Given the description of an element on the screen output the (x, y) to click on. 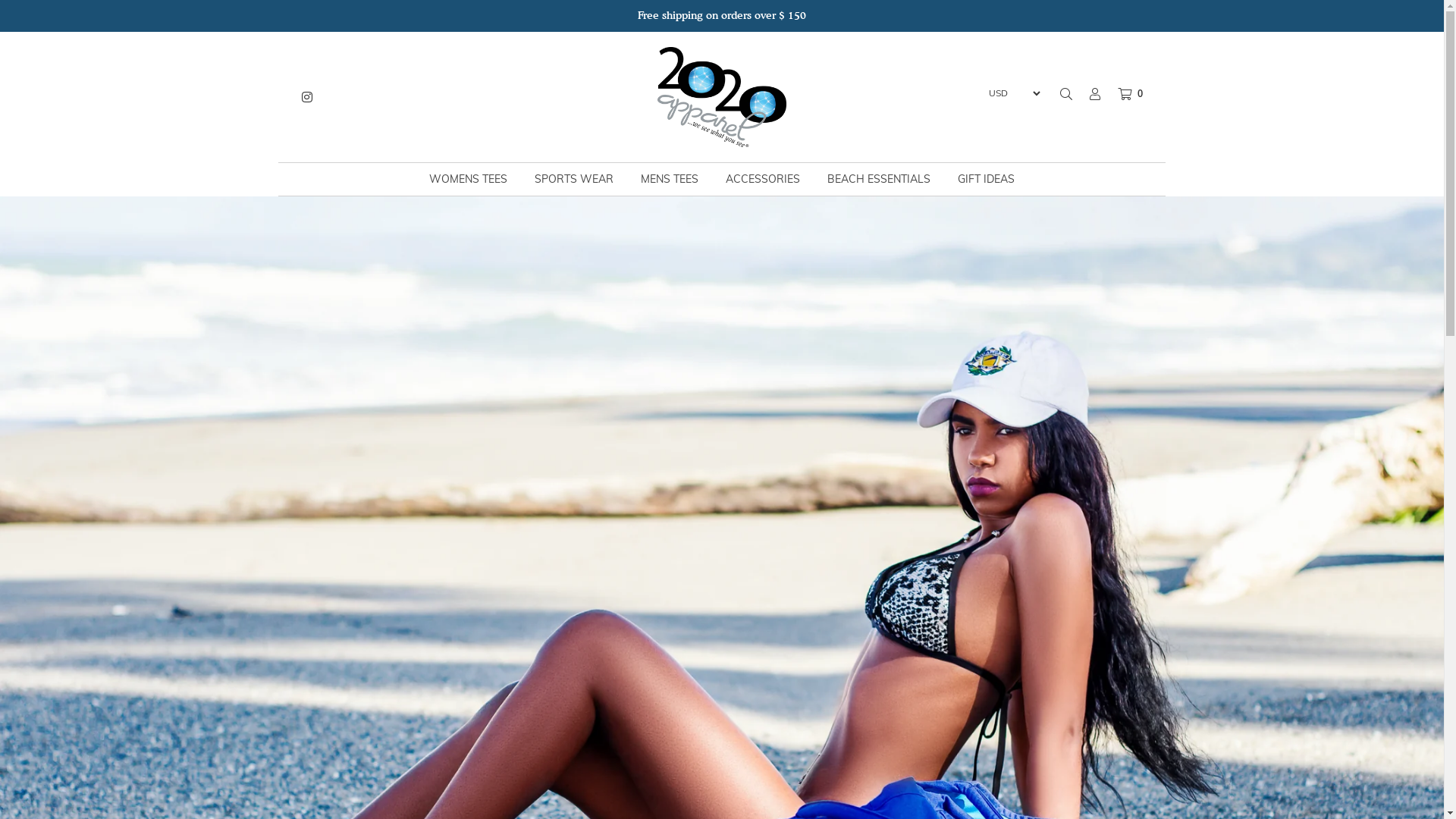
ACCESSORIES Element type: text (762, 178)
MENS TEES Element type: text (669, 178)
SPORTS WEAR Element type: text (573, 178)
GIFT IDEAS Element type: text (986, 178)
BEACH ESSENTIALS Element type: text (878, 178)
0 Element type: text (1122, 93)
Search Element type: hover (1066, 93)
Log in Element type: hover (1087, 93)
WOMENS TEES Element type: text (467, 178)
